Given the description of an element on the screen output the (x, y) to click on. 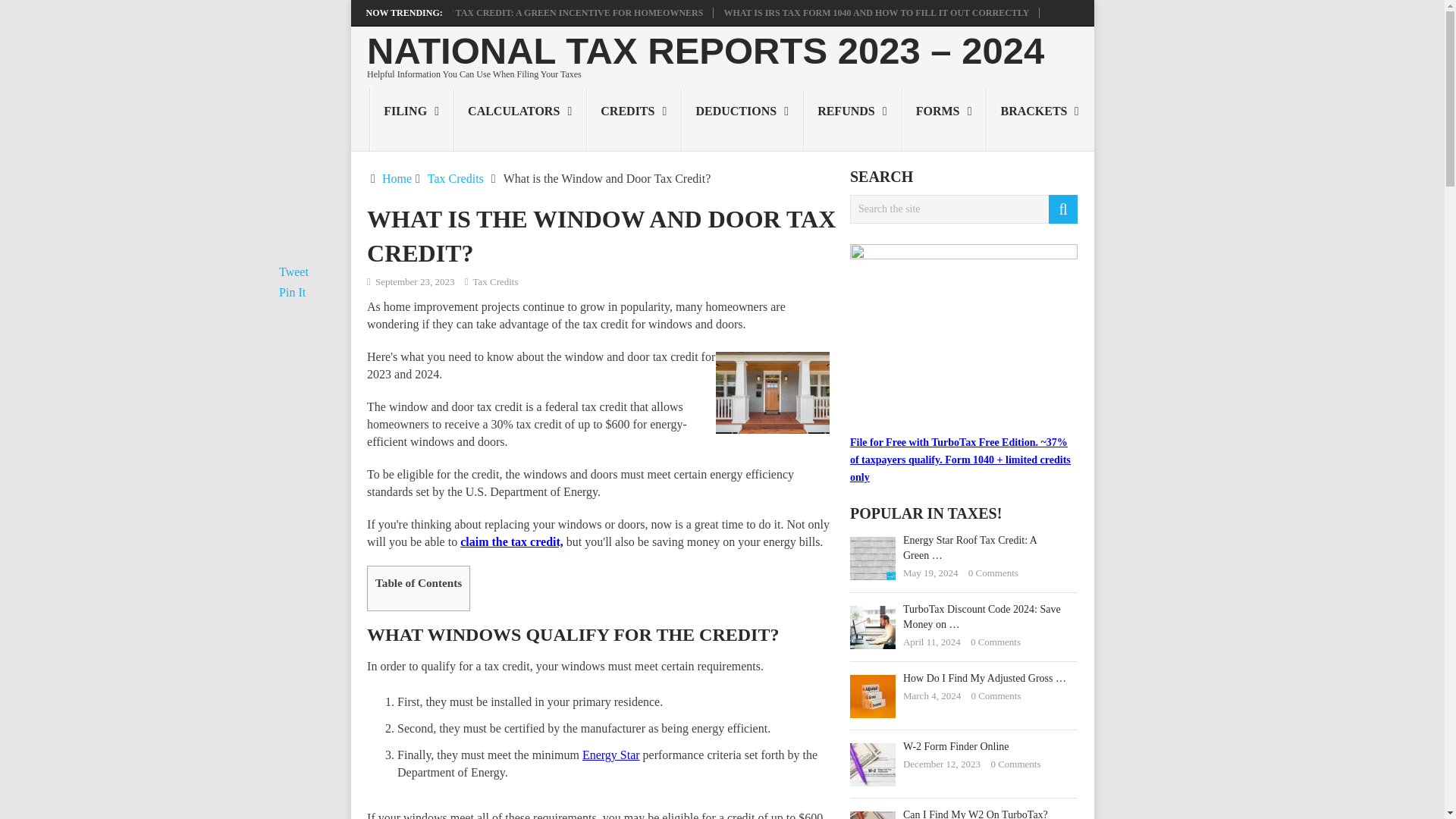
DEDUCTIONS (742, 119)
What is IRS Tax Form 1040 and How to Fill It Out Correctly (876, 12)
View all posts in Tax Credits (494, 281)
WHAT IS IRS TAX FORM 1040 AND HOW TO FILL IT OUT CORRECTLY (876, 12)
CALCULATORS (520, 119)
FILING (411, 119)
CREDITS (633, 119)
